Given the description of an element on the screen output the (x, y) to click on. 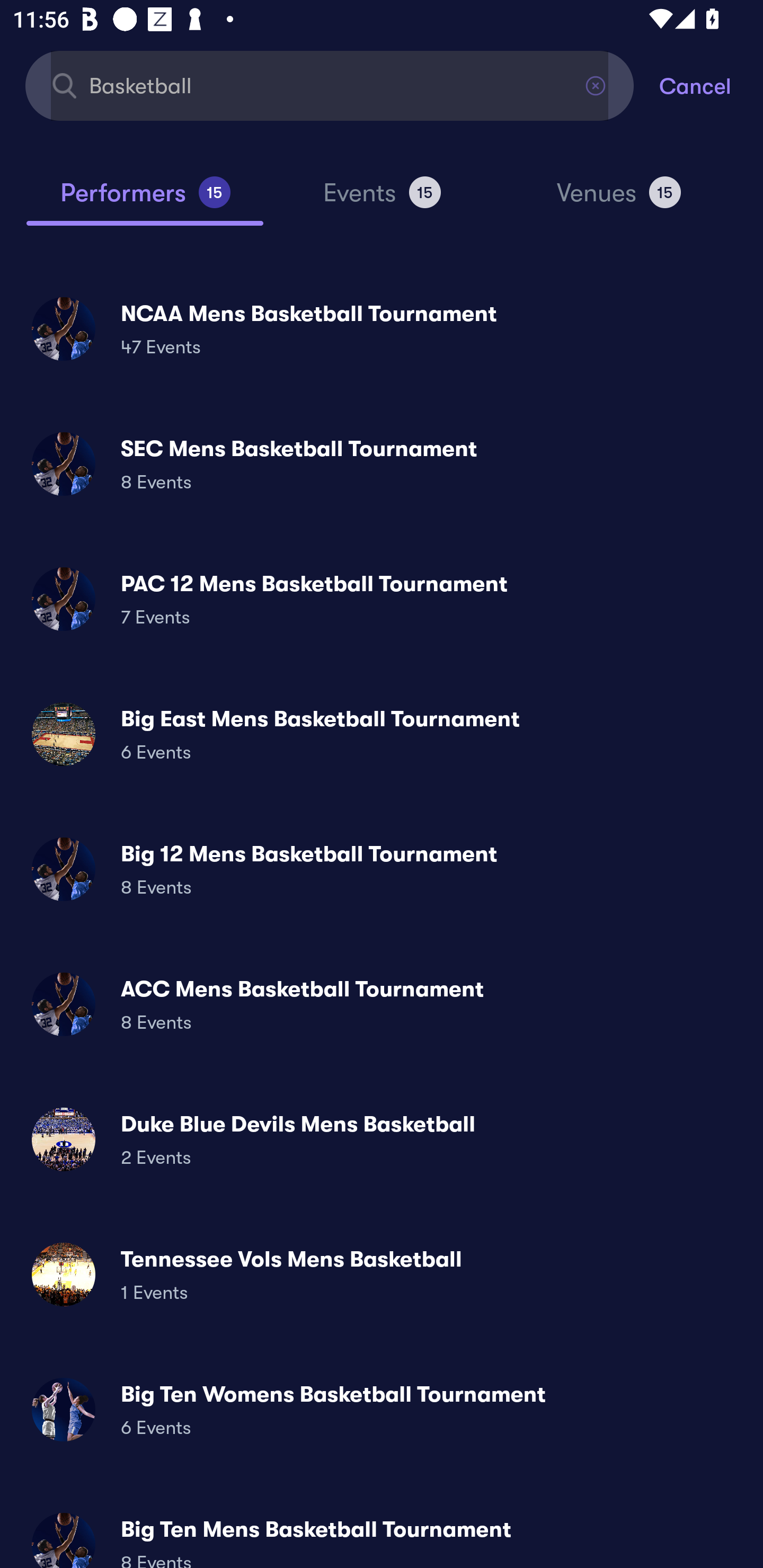
Basketball Find (329, 85)
Basketball Find (329, 85)
Cancel (711, 85)
Performers 15 (144, 200)
Events 15 (381, 200)
Venues 15 (618, 200)
NCAA Mens Basketball Tournament 47 Events (381, 328)
SEC Mens Basketball Tournament 8 Events (381, 464)
PAC 12 Mens Basketball Tournament 7 Events (381, 598)
Big East Mens Basketball Tournament 6 Events (381, 734)
Big 12 Mens Basketball Tournament 8 Events (381, 869)
ACC Mens Basketball Tournament 8 Events (381, 1004)
Duke Blue Devils Mens Basketball 2 Events (381, 1138)
Tennessee Vols Mens Basketball 1 Events (381, 1273)
Big Ten Womens Basketball Tournament 6 Events (381, 1409)
Big Ten Mens Basketball Tournament 8 Events (381, 1532)
